Given the description of an element on the screen output the (x, y) to click on. 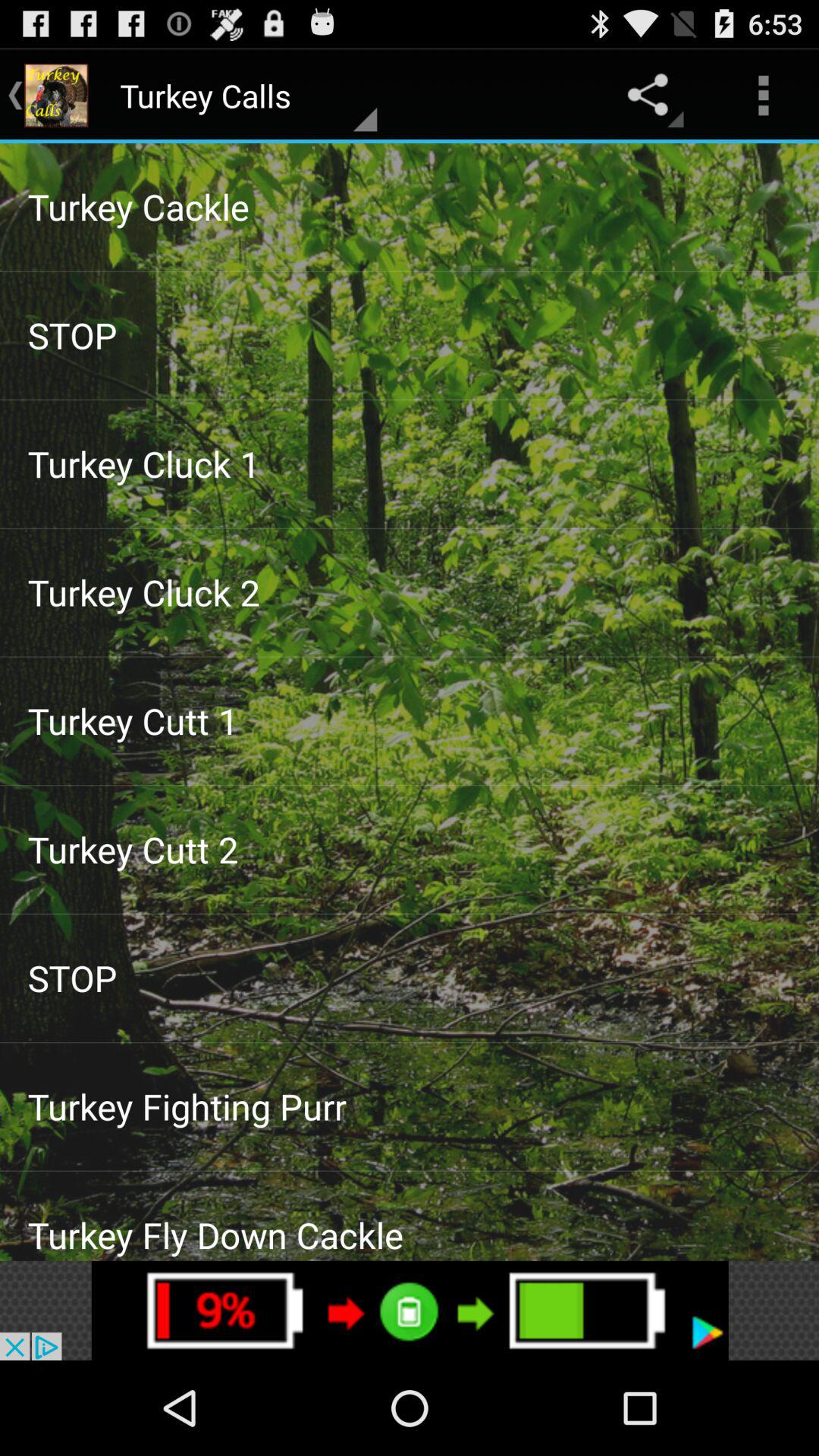
share the article (409, 1310)
